Given the description of an element on the screen output the (x, y) to click on. 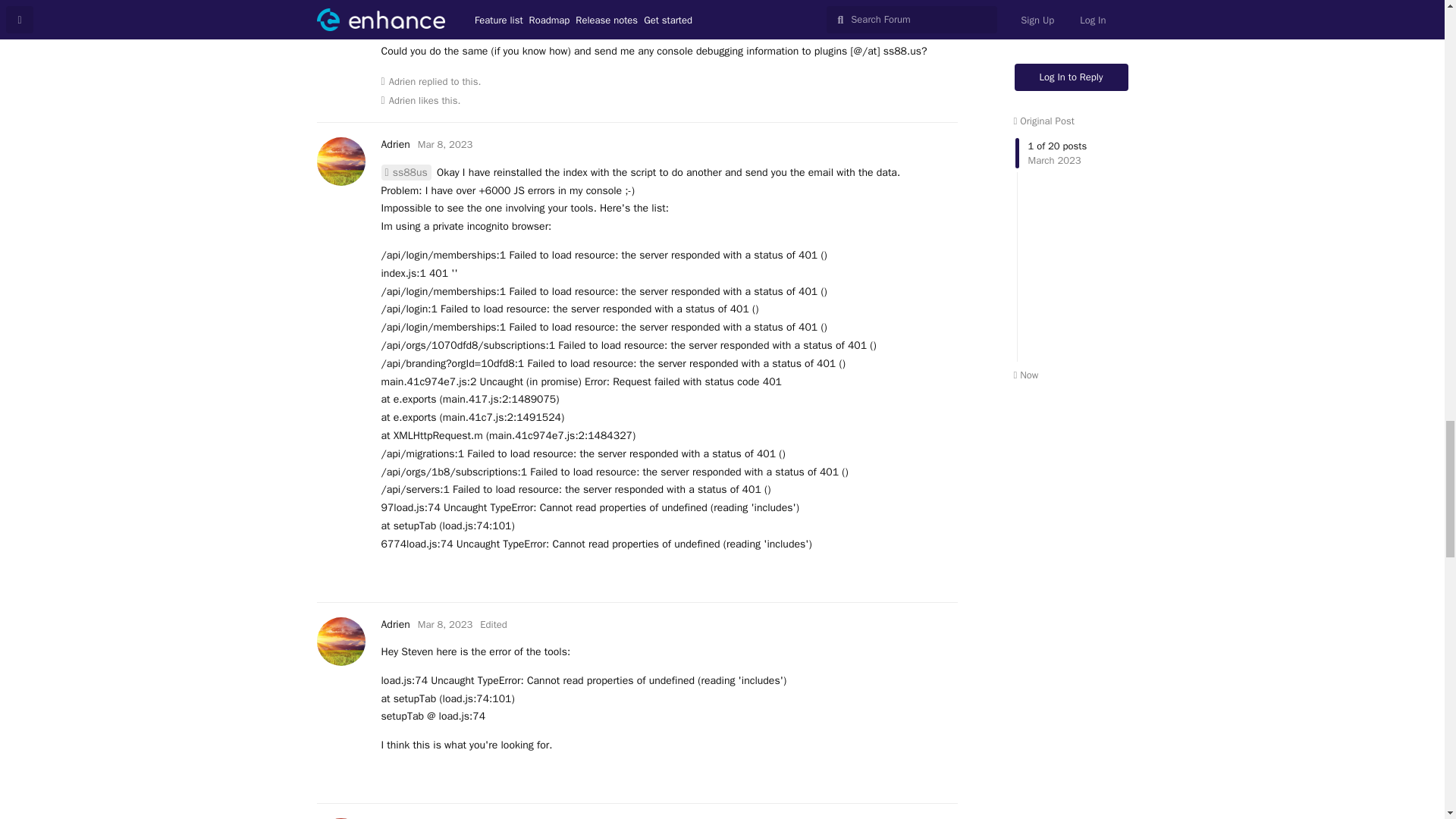
Wednesday, March 8, 2023 3:31 AM (444, 624)
Wednesday, March 8, 2023 3:30 AM (444, 144)
Monday, March 6, 2023 8:13 PM (451, 0)
